Given the description of an element on the screen output the (x, y) to click on. 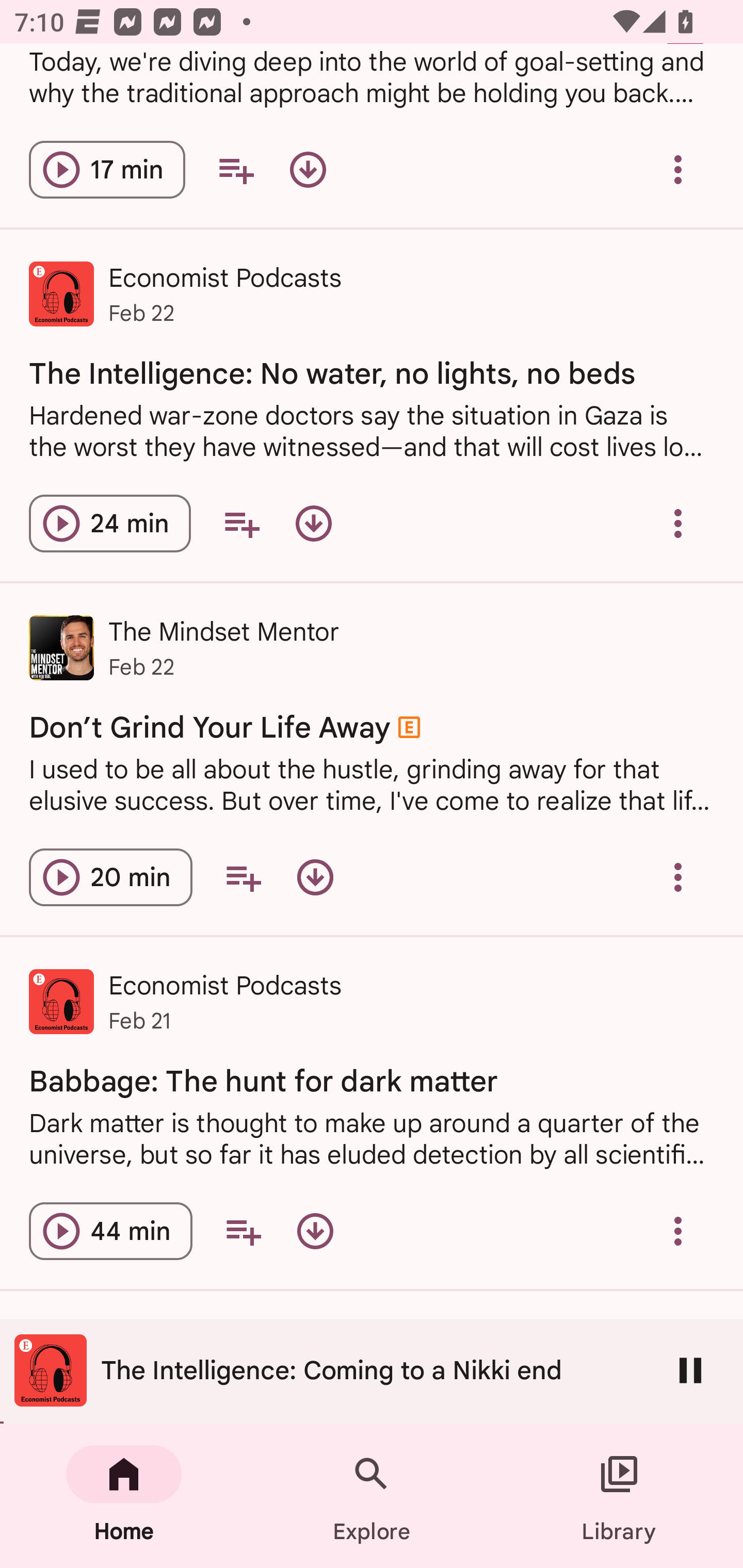
Play episode Goals… You're Doing Them Wrong 17 min (106, 170)
Add to your queue (235, 170)
Download episode (307, 170)
Overflow menu (677, 170)
Add to your queue (241, 523)
Download episode (313, 523)
Overflow menu (677, 523)
Play episode Don’t Grind Your Life Away 20 min (110, 877)
Add to your queue (242, 877)
Download episode 0.0 (315, 877)
Overflow menu (677, 877)
Add to your queue (242, 1231)
Download episode (315, 1231)
Overflow menu (677, 1231)
Pause (690, 1370)
Explore (371, 1495)
Library (619, 1495)
